Given the description of an element on the screen output the (x, y) to click on. 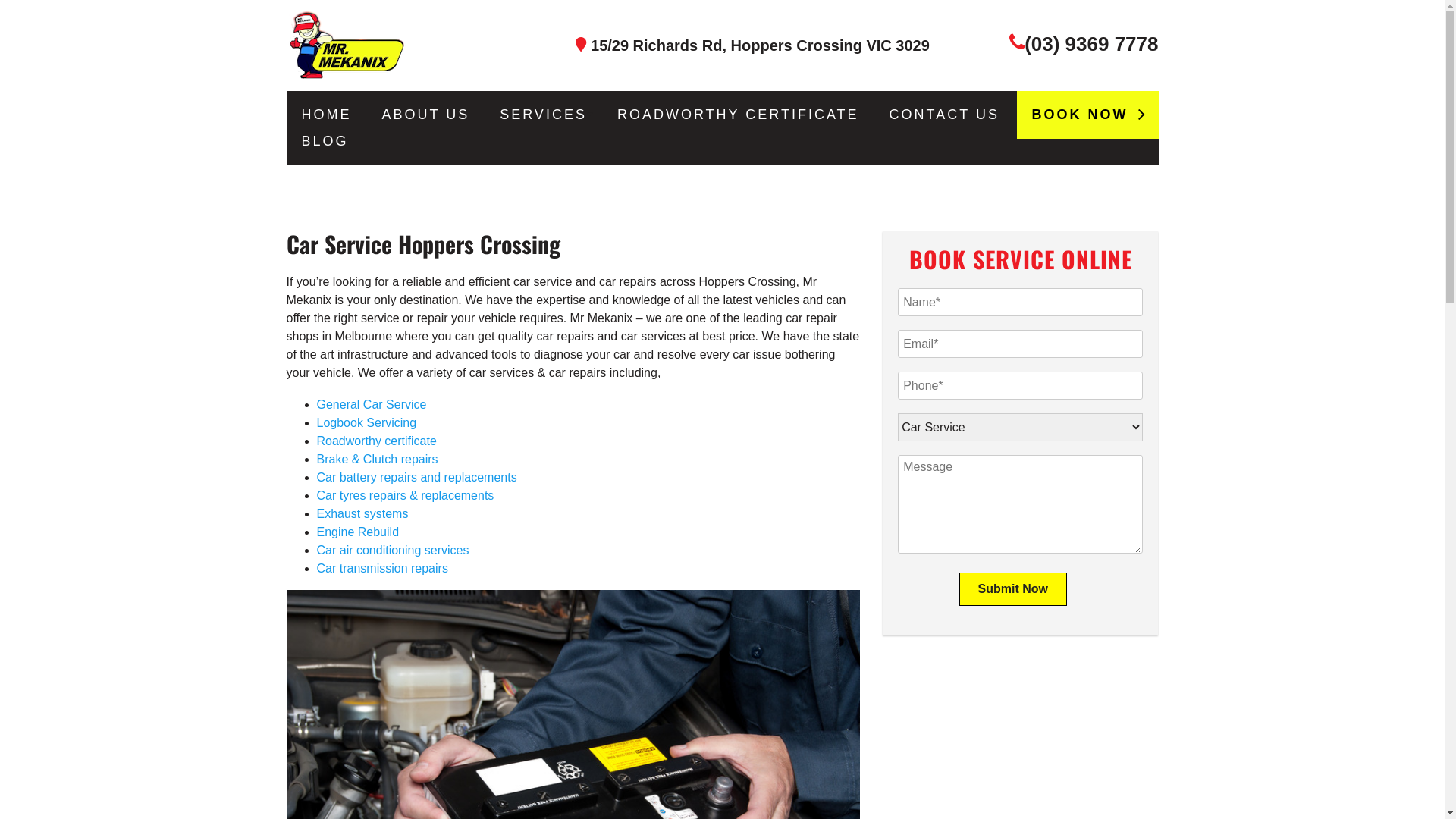
Roadworthy certificate Element type: text (376, 440)
Car tyres repairs & replacements Element type: text (405, 495)
BLOG Element type: text (324, 141)
ABOUT US Element type: text (426, 114)
HOME Element type: text (326, 114)
SERVICES Element type: text (542, 114)
Engine Rebuild Element type: text (357, 531)
Submit Now Element type: text (1012, 588)
Car air conditioning services Element type: text (392, 549)
Logbook Servicing Element type: text (366, 422)
ROADWORTHY CERTIFICATE Element type: text (738, 114)
Exhaust systems Element type: text (362, 513)
Car battery repairs and replacements Element type: text (416, 476)
BOOK NOW Element type: text (1086, 114)
Brake & Clutch repairs Element type: text (377, 458)
General Car Service Element type: text (371, 404)
(03) 9369 7778 Element type: text (1090, 43)
CONTACT US Element type: text (944, 114)
Car transmission repairs Element type: text (382, 567)
